Given the description of an element on the screen output the (x, y) to click on. 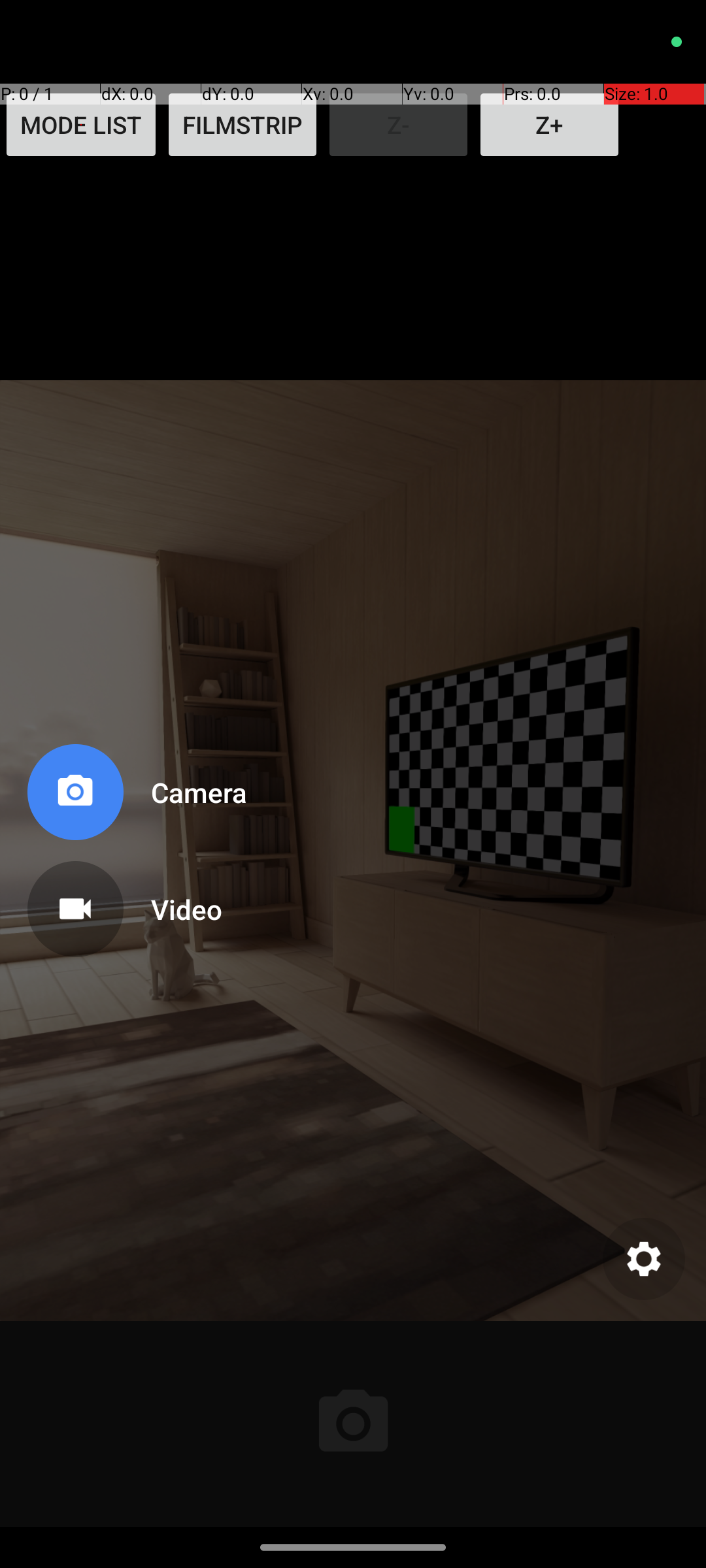
Switch to Camera Mode Element type: android.widget.FrameLayout (134, 797)
Switch to Video Camera Element type: android.widget.FrameLayout (134, 903)
